Given the description of an element on the screen output the (x, y) to click on. 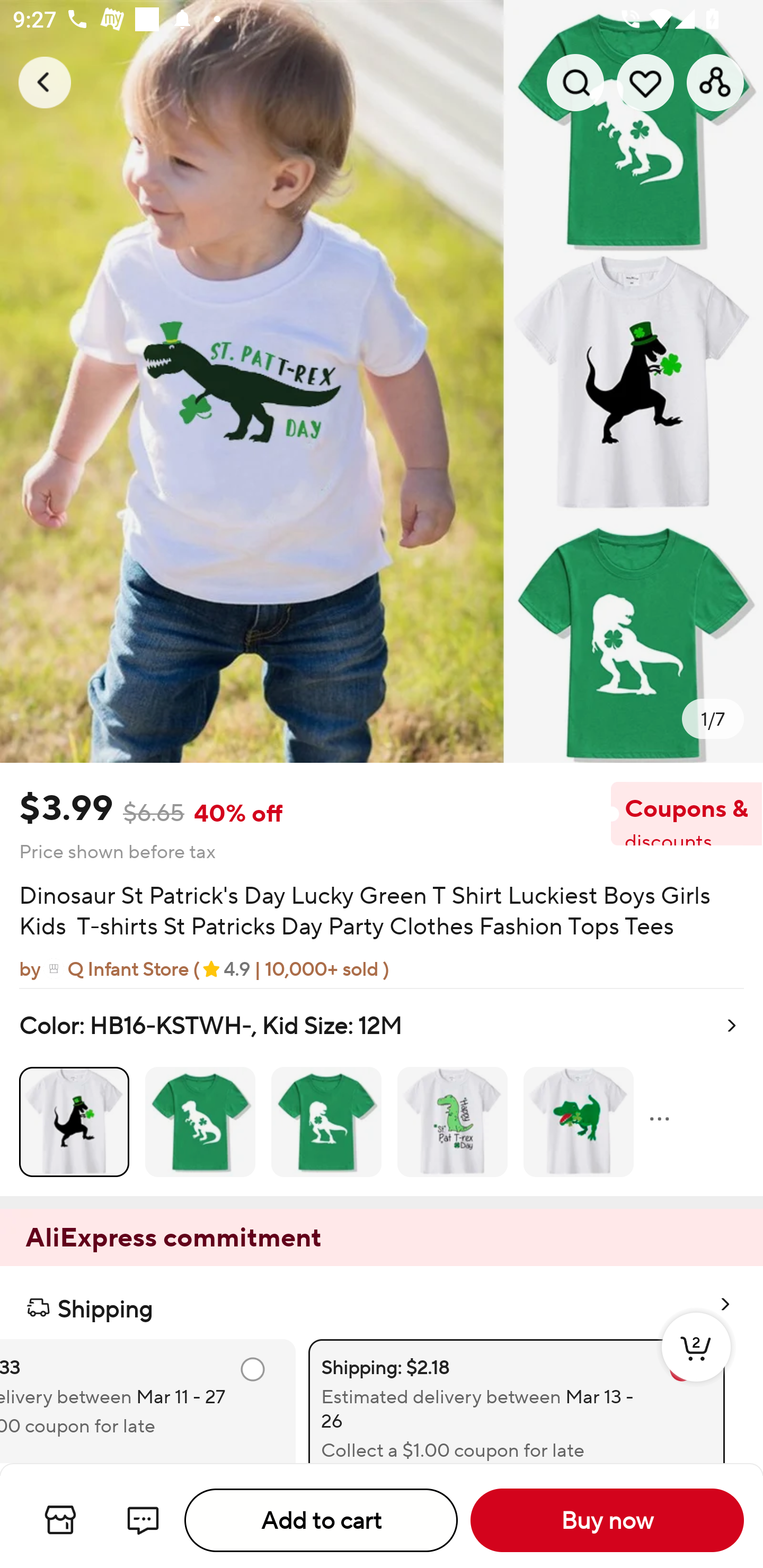
Navigate up (44, 82)
Color: HB16-KSTWH-, Kid Size: 12M  (381, 1092)
2 (695, 1366)
Add to cart (320, 1520)
Buy now (606, 1520)
